Given the description of an element on the screen output the (x, y) to click on. 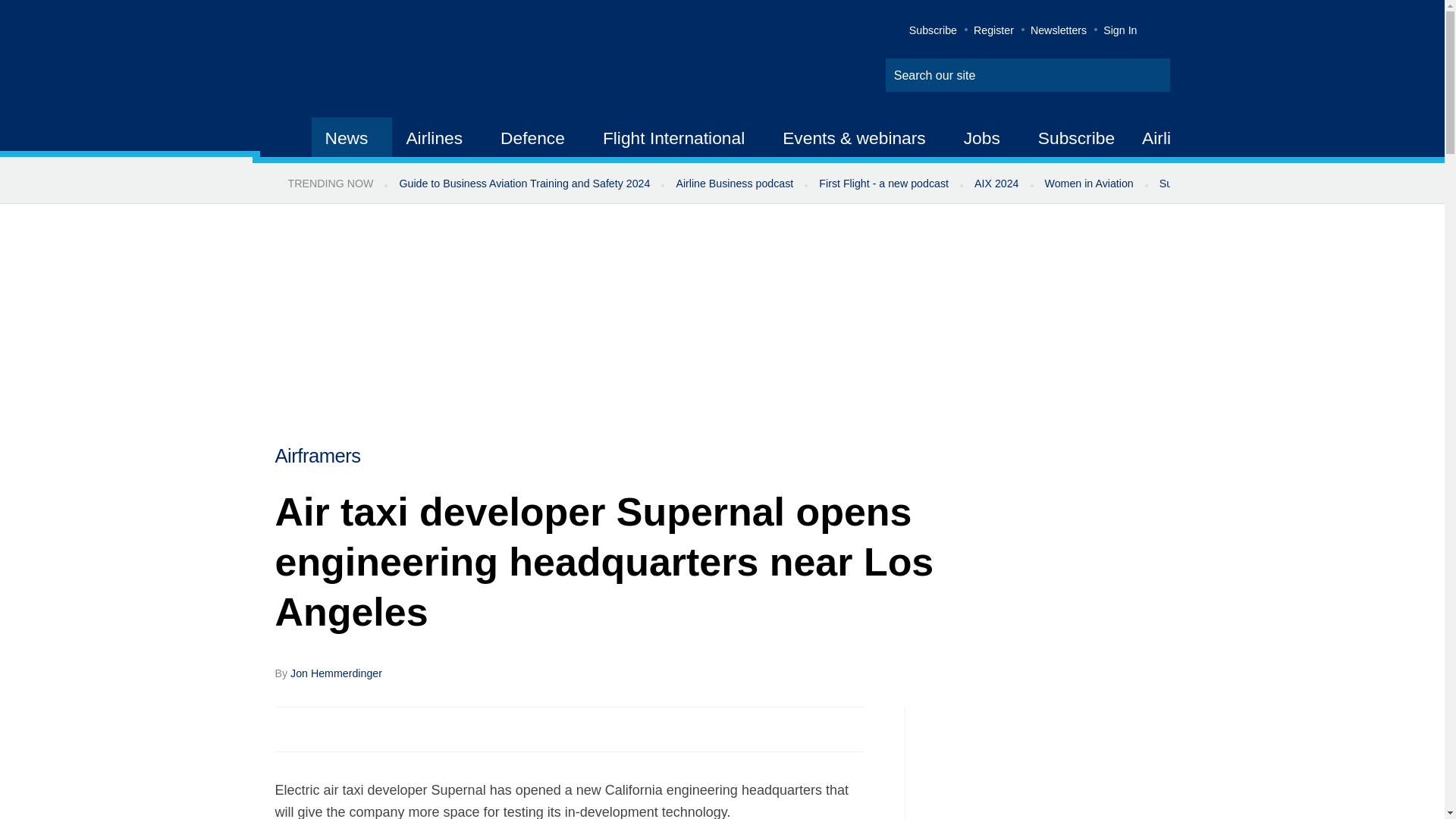
Women in Aviation (1089, 183)
Airline Business podcast (734, 183)
Guide to Business Aviation Training and Safety 2024 (523, 183)
First Flight - a new podcast (883, 183)
Share this on Facebook (288, 728)
Email this article (386, 728)
Sustainable Aviation newsletter (1234, 183)
AIX 2024 (996, 183)
Share this on Twitter (320, 728)
Site name (422, 60)
